Given the description of an element on the screen output the (x, y) to click on. 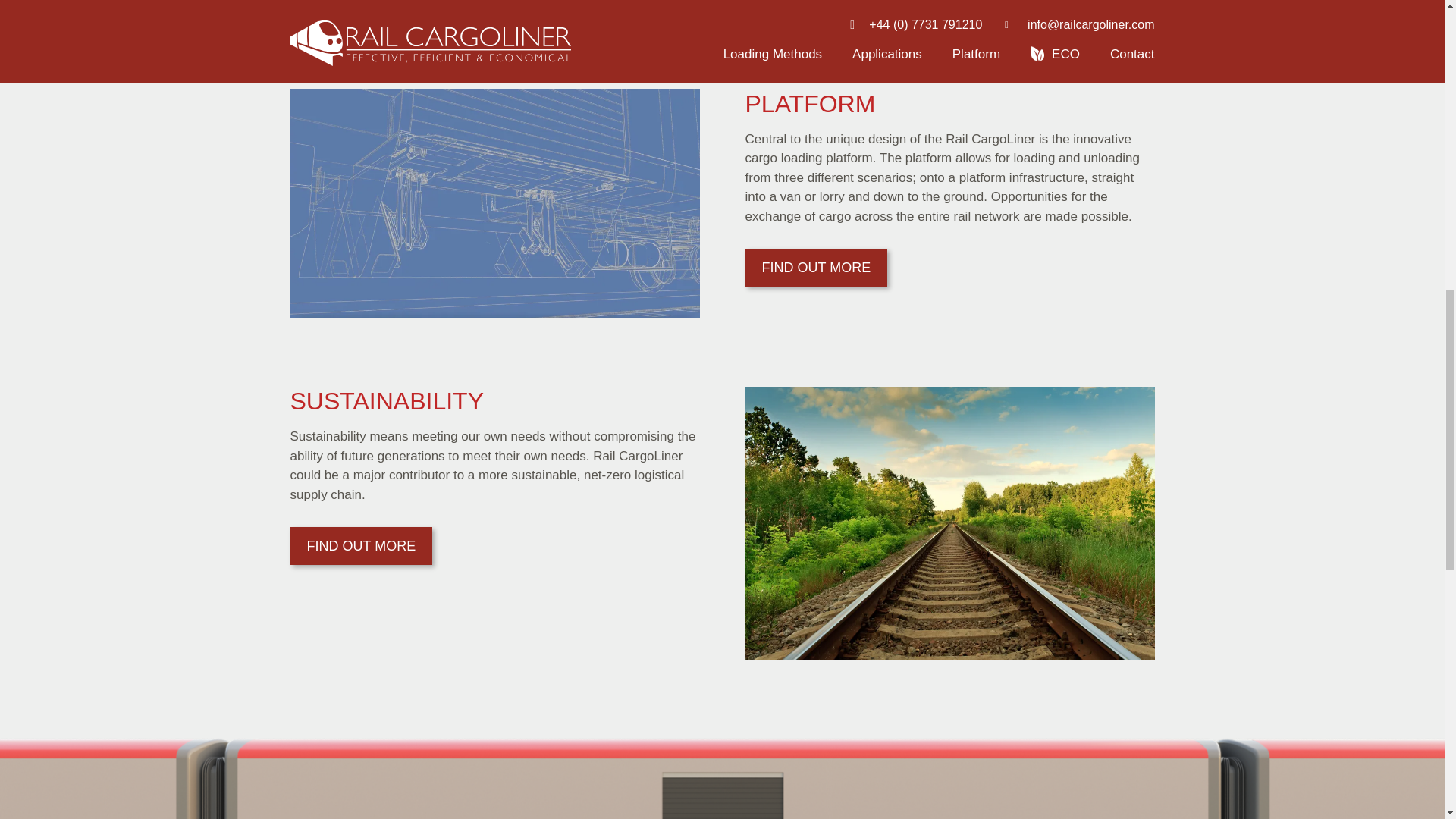
FIND OUT MORE (360, 546)
FIND OUT MORE (360, 4)
FIND OUT MORE (815, 267)
